Given the description of an element on the screen output the (x, y) to click on. 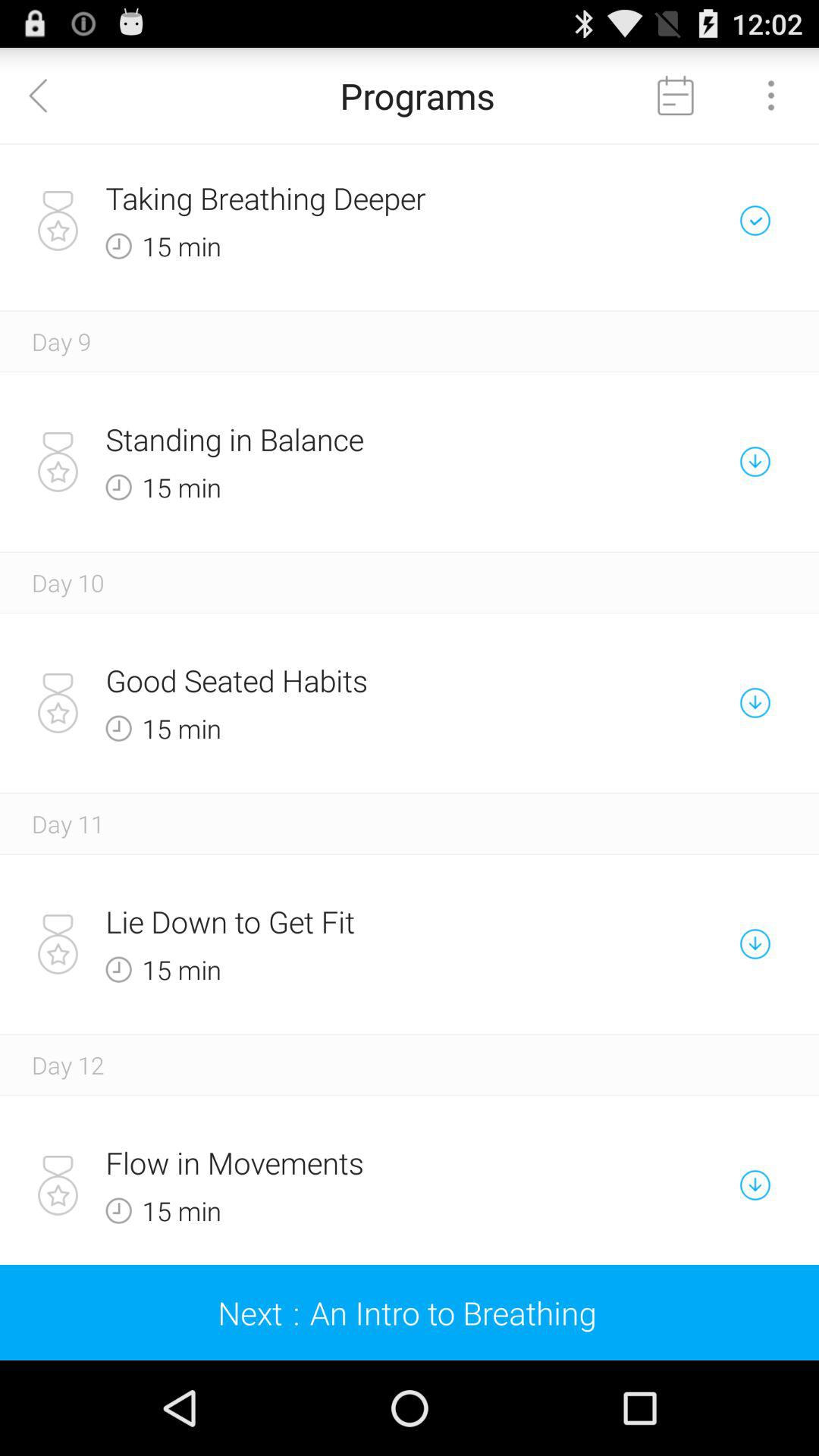
turn off item above 15 min icon (356, 921)
